Given the description of an element on the screen output the (x, y) to click on. 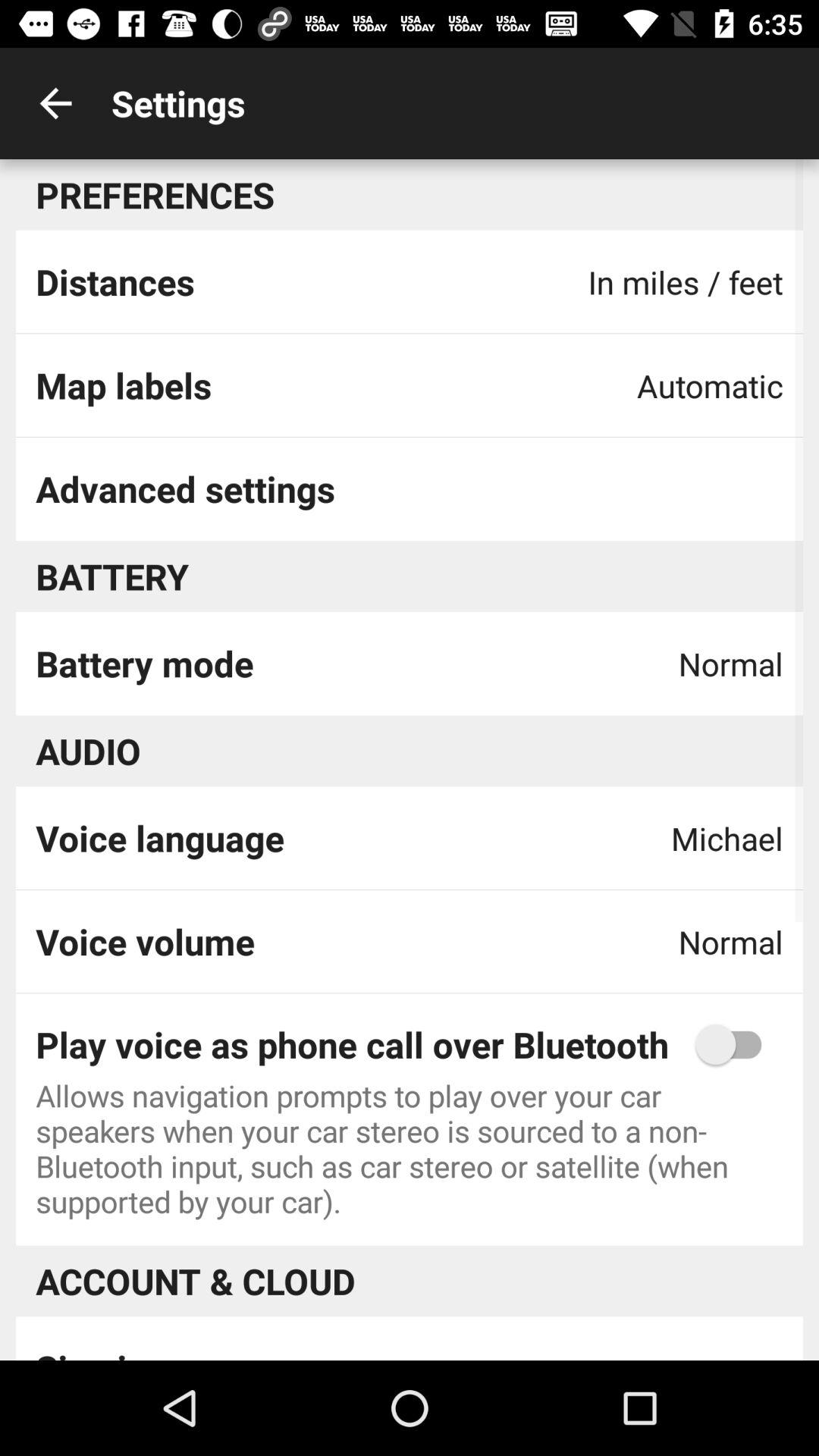
switch phone over bluetooth option (735, 1044)
